Given the description of an element on the screen output the (x, y) to click on. 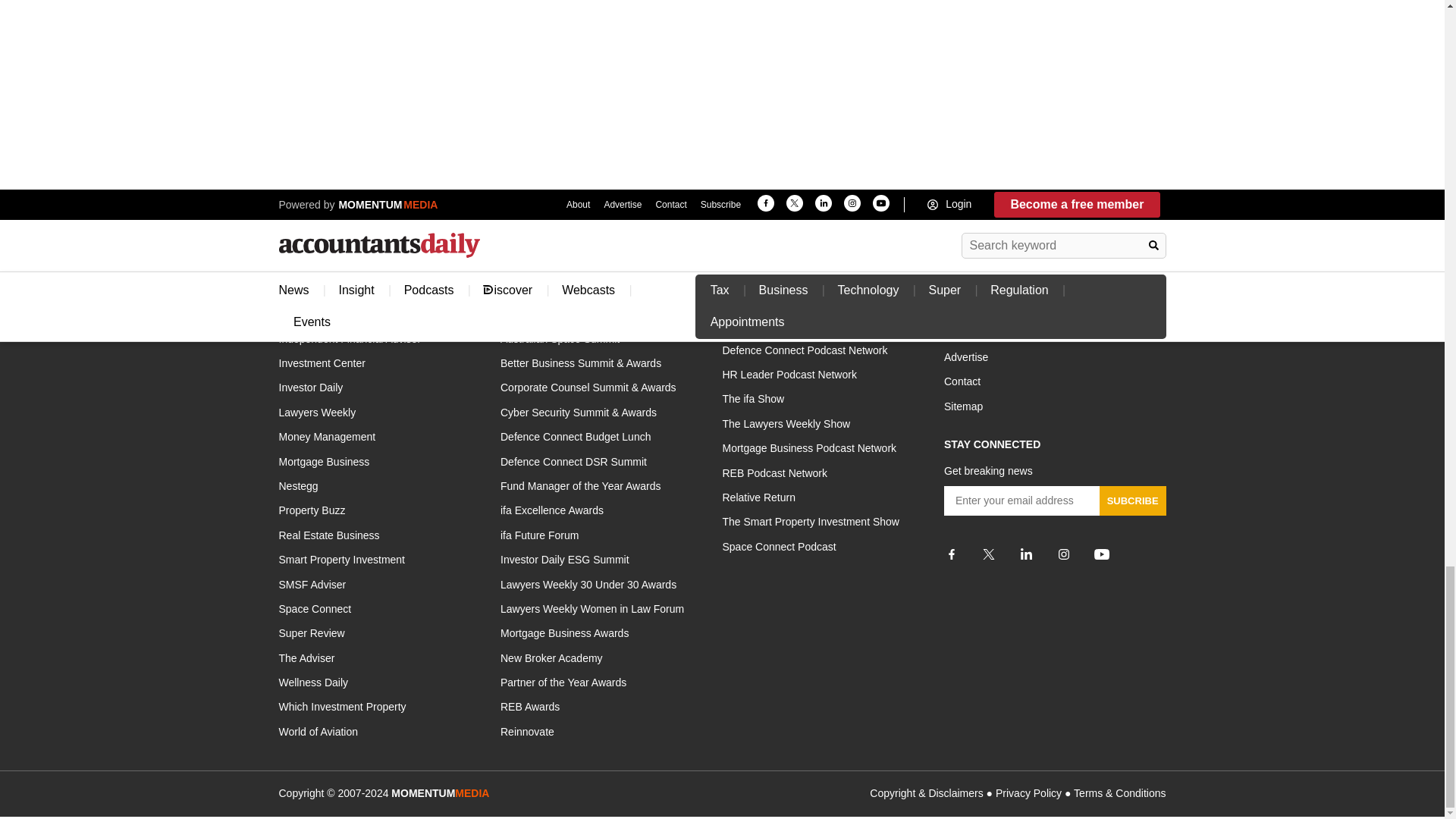
SUBCRIBE (1132, 500)
